Given the description of an element on the screen output the (x, y) to click on. 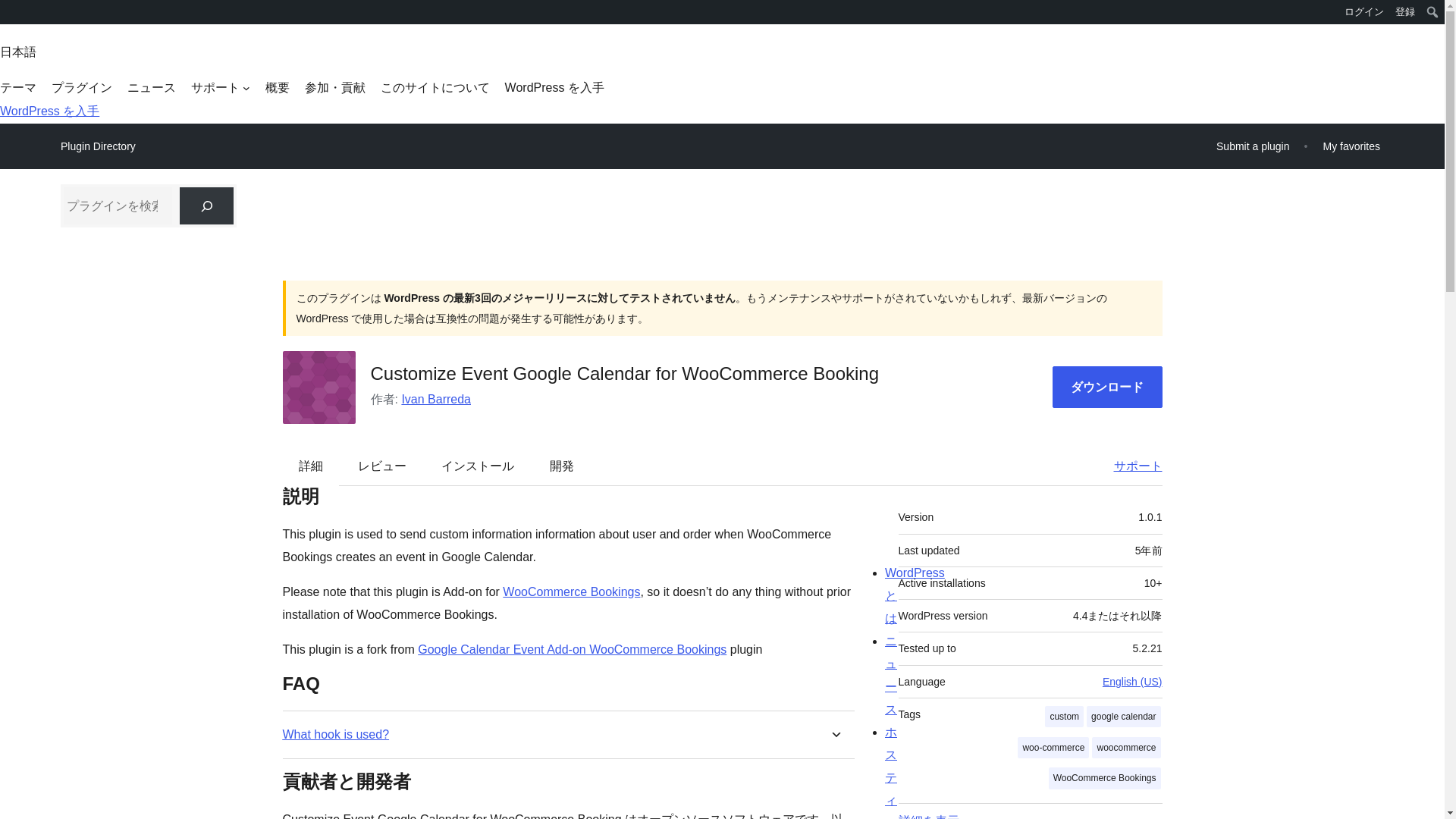
WordPress.org (10, 10)
Ivan Barreda (435, 399)
Submit a plugin (1253, 145)
Plugin Directory (97, 146)
Google Calendar Event Add-on WooCommerce Bookings (571, 649)
My favorites (1351, 145)
WooCommerce Bookings (571, 591)
WordPress.org (10, 16)
